Given the description of an element on the screen output the (x, y) to click on. 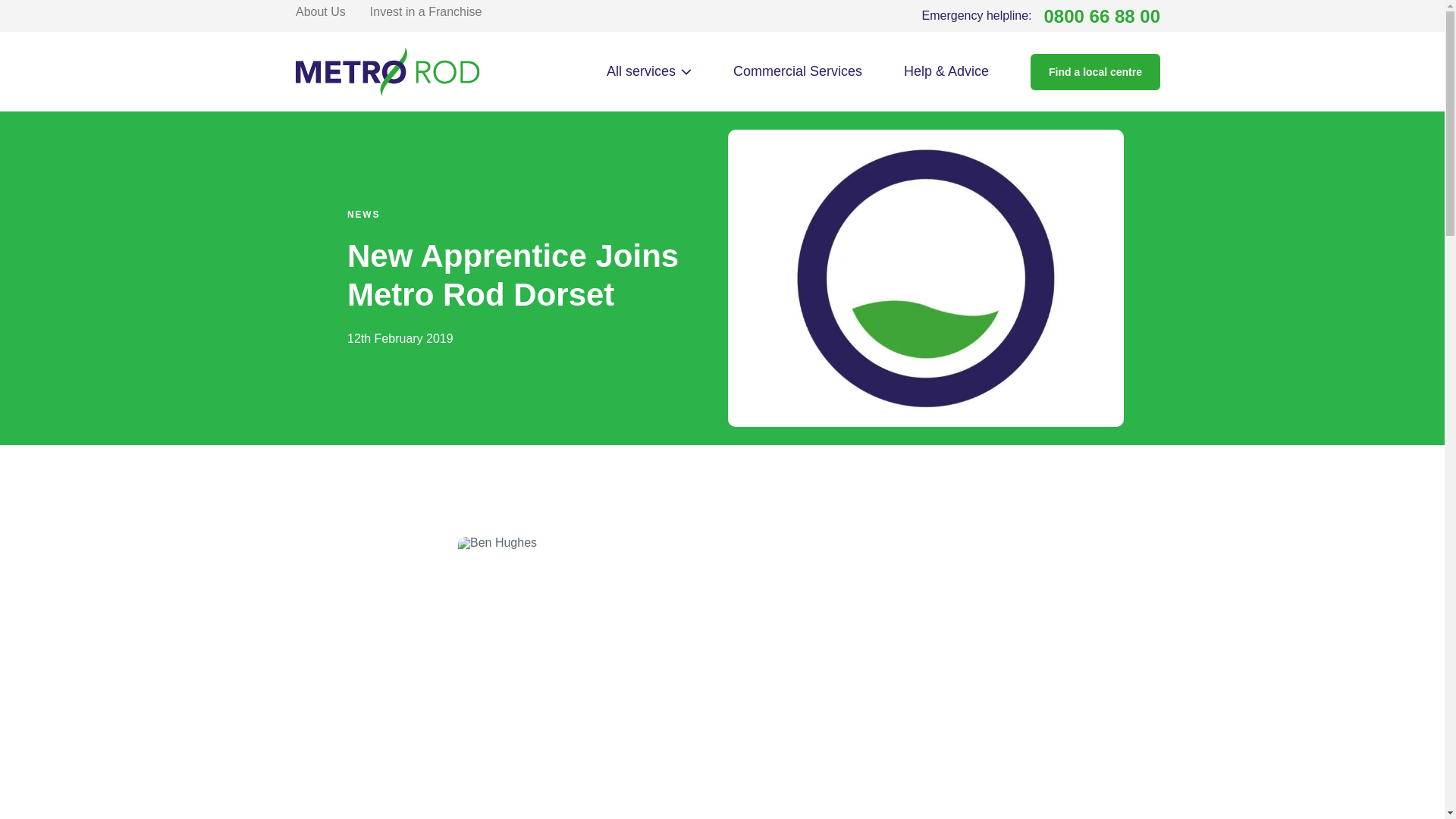
Pump Services (380, 216)
About Us (1040, 15)
Tanker Services (320, 11)
All services (380, 256)
Invest in a Franchise (649, 71)
Drainage Services (425, 11)
